Given the description of an element on the screen output the (x, y) to click on. 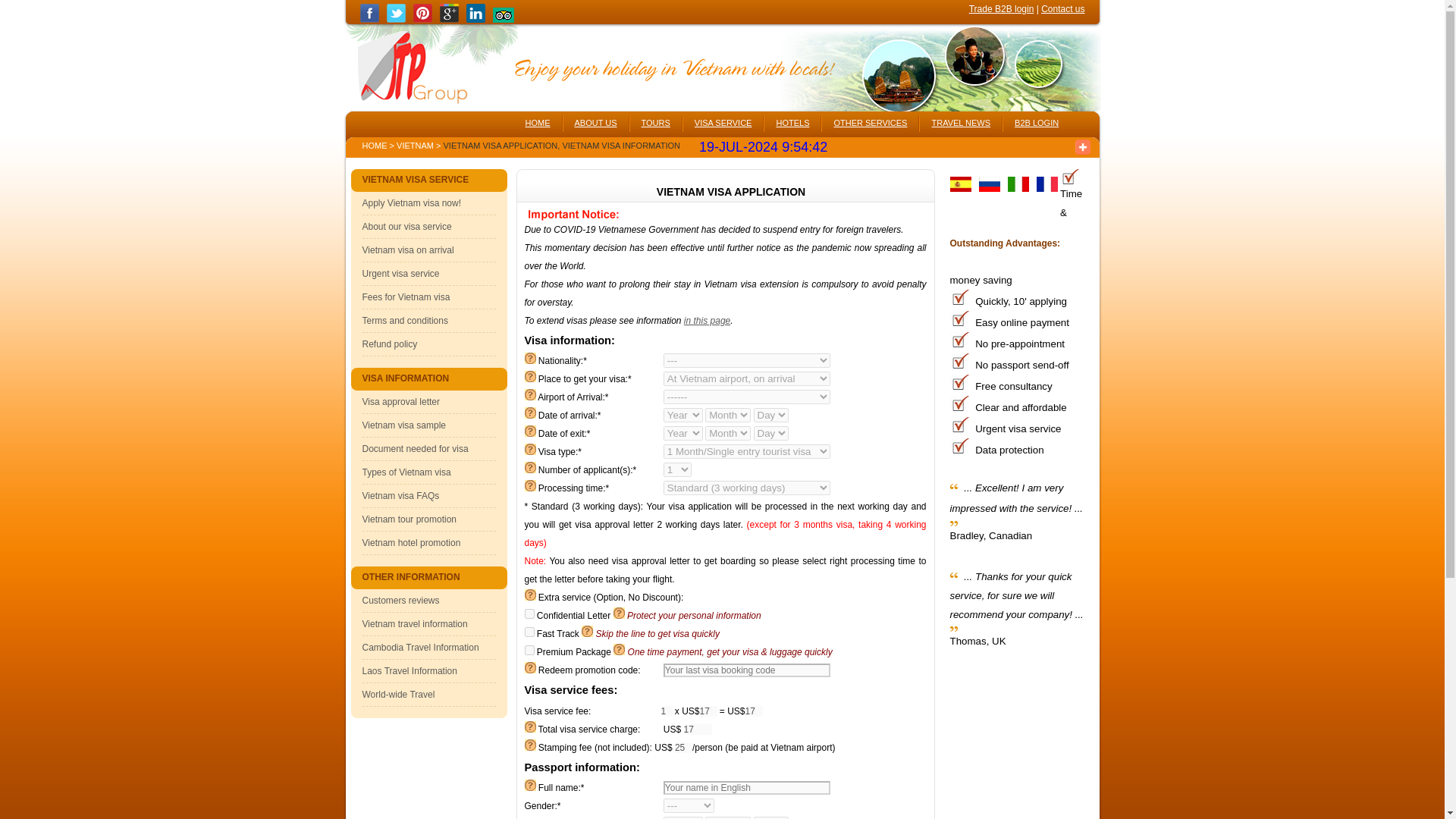
VISA SERVICE (722, 119)
HOME (537, 119)
1 (666, 710)
Tuan Linh Travel - Twitter (396, 19)
1 (529, 632)
ABOUT US (594, 119)
Contact us (1062, 9)
25 (684, 747)
Apply Vietnam visa now! (411, 203)
OTHER SERVICES (870, 119)
Tuan Linh Travel - Linkin (474, 19)
B2B LOGIN (1036, 119)
TRAVEL NEWS (960, 119)
Tuan Linh Travel - Pinterest (422, 19)
Trade B2B login (1001, 9)
